Given the description of an element on the screen output the (x, y) to click on. 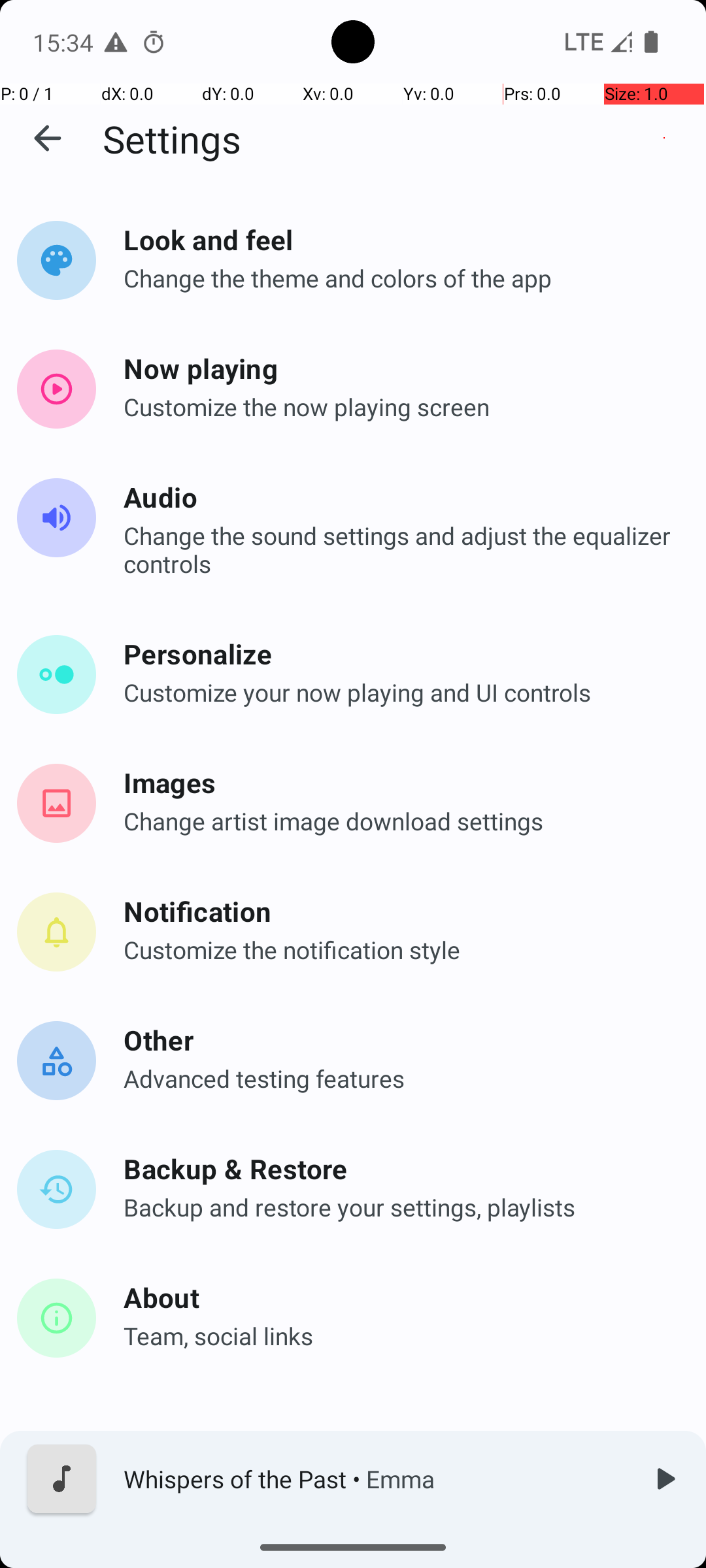
Whispers of the Past • Emma Element type: android.widget.TextView (372, 1478)
Look and feel Element type: android.widget.TextView (399, 239)
Change the theme and colors of the app Element type: android.widget.TextView (399, 277)
Now playing Element type: android.widget.TextView (399, 367)
Customize the now playing screen Element type: android.widget.TextView (399, 406)
Change the sound settings and adjust the equalizer controls Element type: android.widget.TextView (399, 549)
Personalize Element type: android.widget.TextView (399, 653)
Customize your now playing and UI controls Element type: android.widget.TextView (399, 691)
Change artist image download settings Element type: android.widget.TextView (399, 820)
Notification Element type: android.widget.TextView (399, 910)
Customize the notification style Element type: android.widget.TextView (399, 949)
Other Element type: android.widget.TextView (399, 1039)
Advanced testing features Element type: android.widget.TextView (399, 1077)
Backup & Restore Element type: android.widget.TextView (399, 1168)
Backup and restore your settings, playlists Element type: android.widget.TextView (399, 1206)
About Element type: android.widget.TextView (399, 1296)
Team, social links Element type: android.widget.TextView (399, 1335)
